Given the description of an element on the screen output the (x, y) to click on. 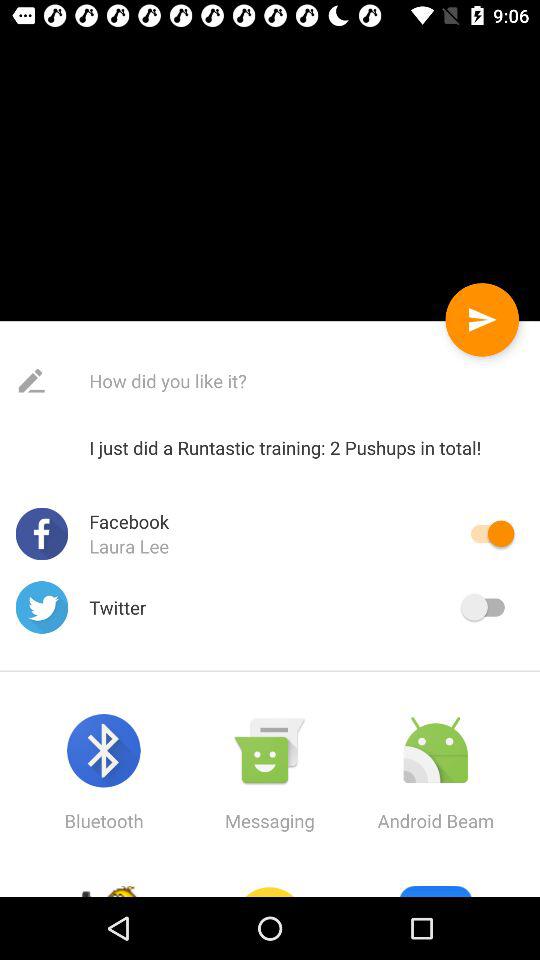
select the complete text to the right of edit icon (254, 381)
select the send button (482, 320)
click on the play button (482, 320)
click on twitter logo (42, 606)
click the icon above the text android beam (436, 751)
